Given the description of an element on the screen output the (x, y) to click on. 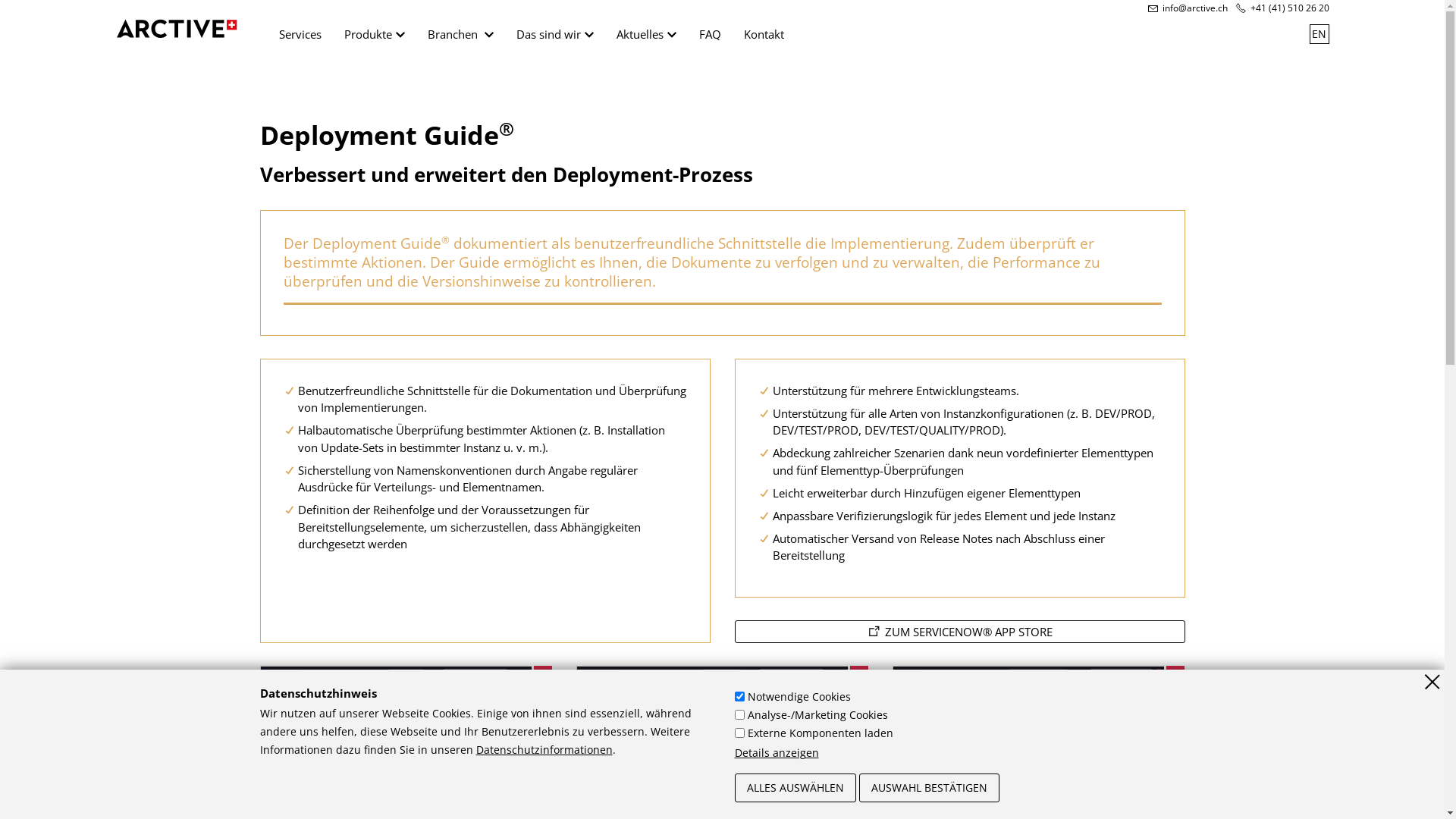
Zur Startseite Element type: hover (175, 27)
Aktuelles Element type: text (646, 37)
EN Element type: text (1318, 33)
Kontakt Element type: text (763, 37)
Datenschutzinformationen Element type: text (544, 749)
Details anzeigen Element type: text (776, 752)
Produkte Element type: text (373, 37)
Branchen Element type: text (459, 37)
FAQ Element type: text (709, 37)
info@arctive.ch Element type: text (1186, 7)
Services Element type: text (299, 37)
1 Element type: text (738, 696)
+41 (41) 510 26 20 Element type: text (1281, 7)
Das sind wir Element type: text (555, 37)
